Given the description of an element on the screen output the (x, y) to click on. 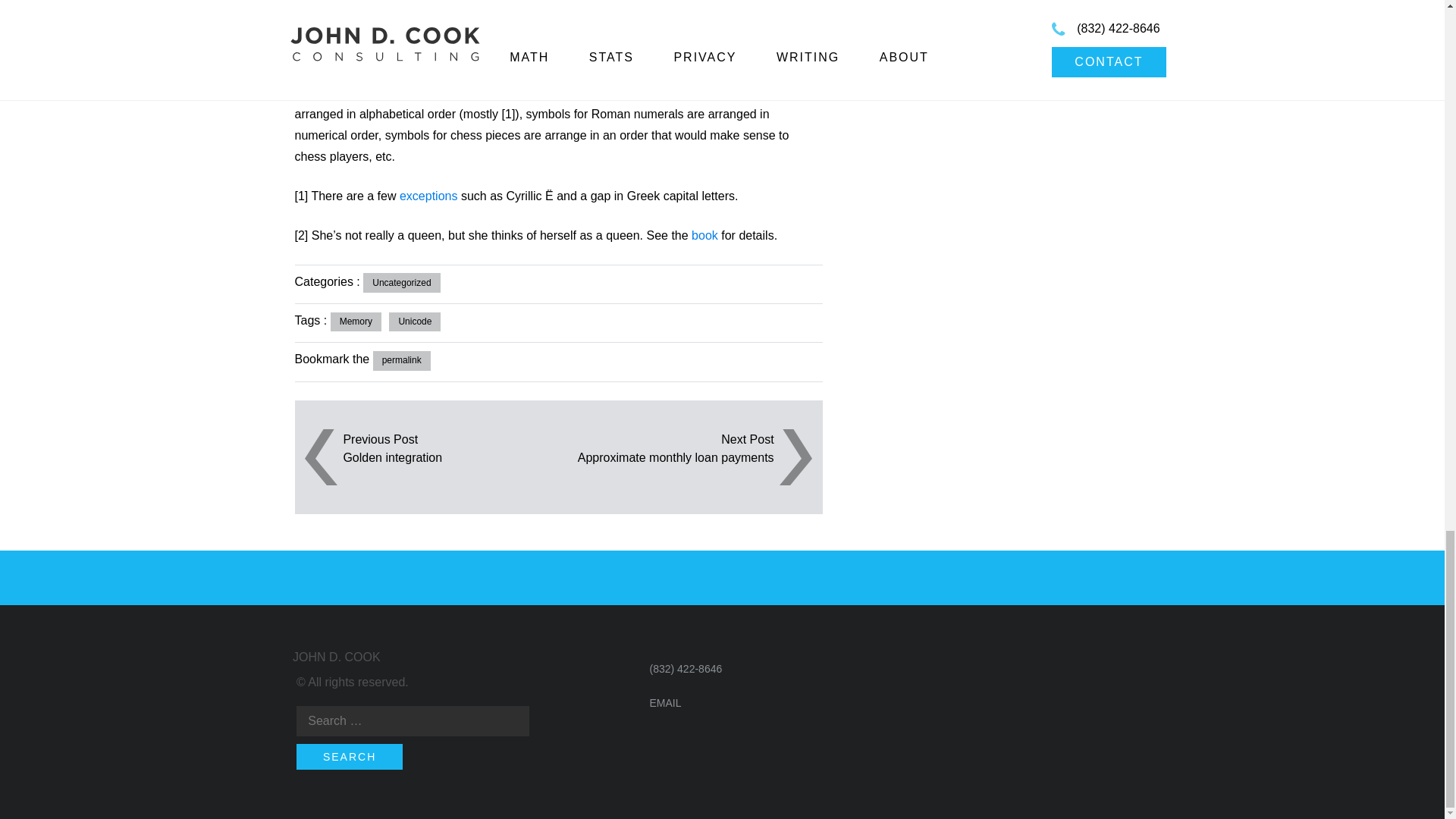
Search (350, 756)
Permalink to How to memorize Unicode codepoints (401, 361)
Search for: (413, 720)
Search (350, 756)
